Given the description of an element on the screen output the (x, y) to click on. 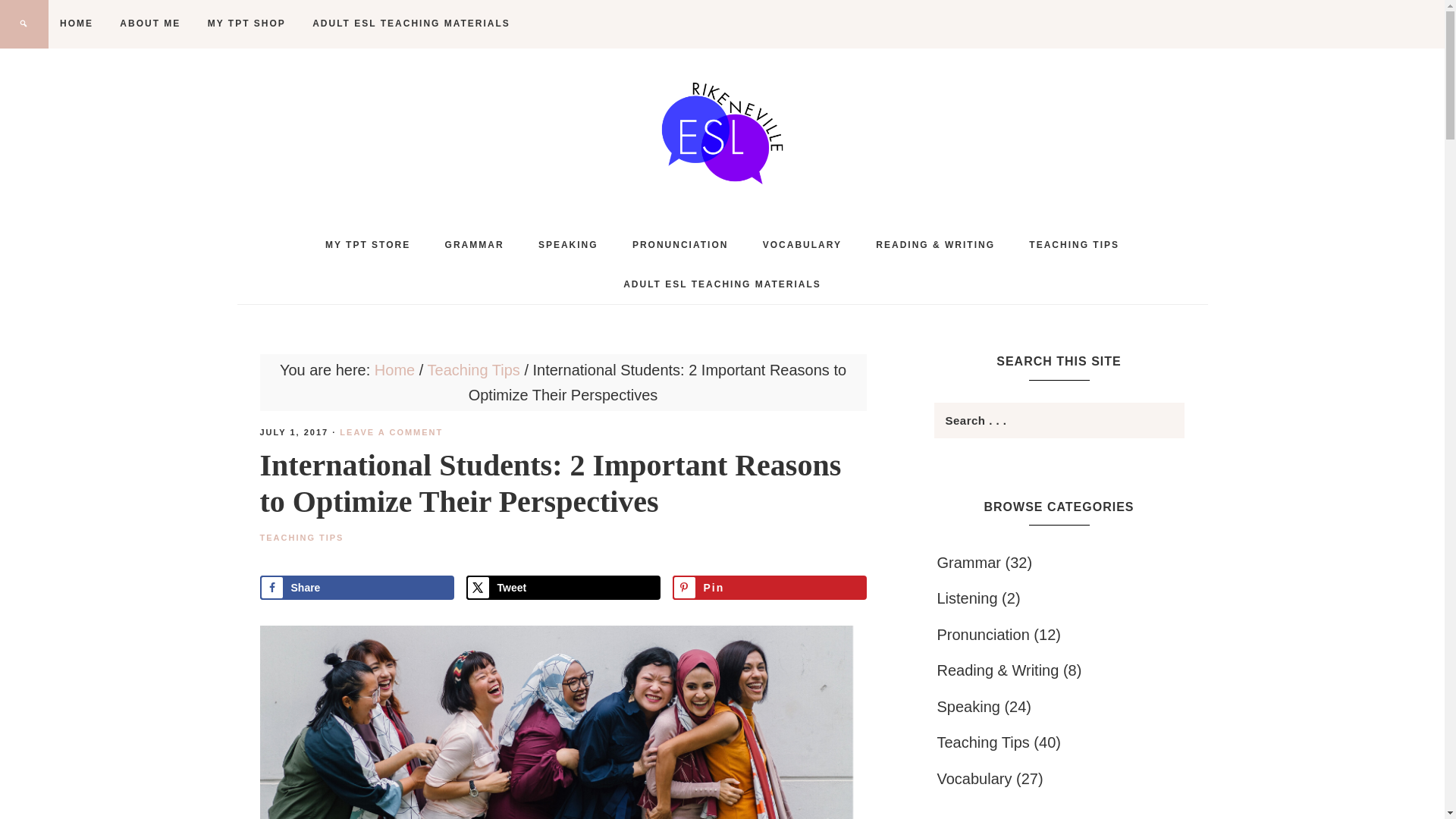
Share on Facebook (355, 587)
Home (394, 369)
Share on X (562, 587)
Tweet (562, 587)
SPEAKING (567, 244)
PRONUNCIATION (679, 244)
ABOUT ME (149, 23)
VOCABULARY (802, 244)
ADULT ESL TEACHING MATERIALS (411, 23)
TEACHING TIPS (301, 537)
Save to Pinterest (768, 587)
Pin (768, 587)
MY TPT STORE (367, 244)
